Given the description of an element on the screen output the (x, y) to click on. 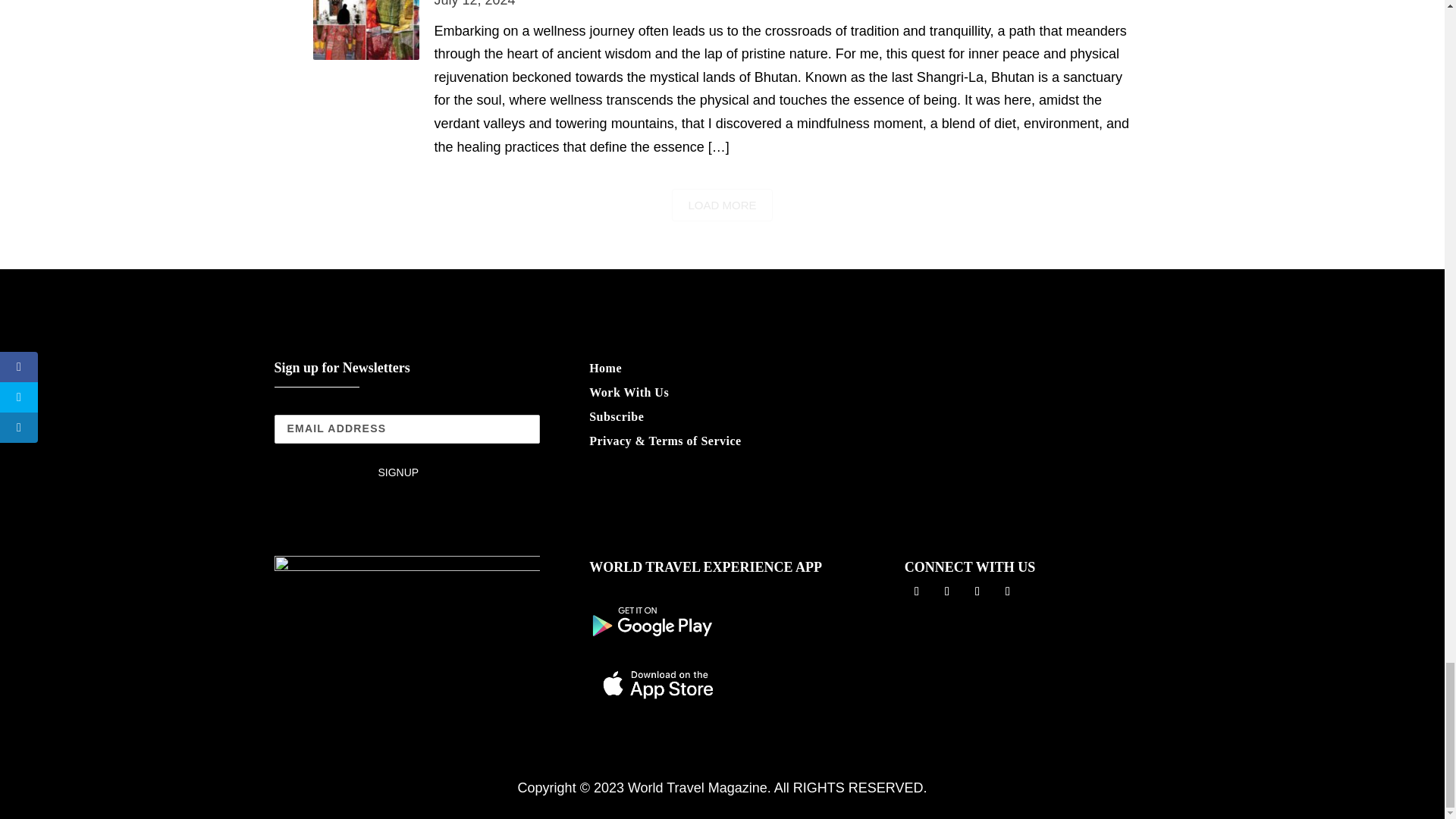
Follow on X (946, 591)
World travel (407, 588)
Signup (398, 472)
Follow on Instagram (977, 591)
Follow on LinkedIn (1007, 591)
Follow on Facebook (916, 591)
